Given the description of an element on the screen output the (x, y) to click on. 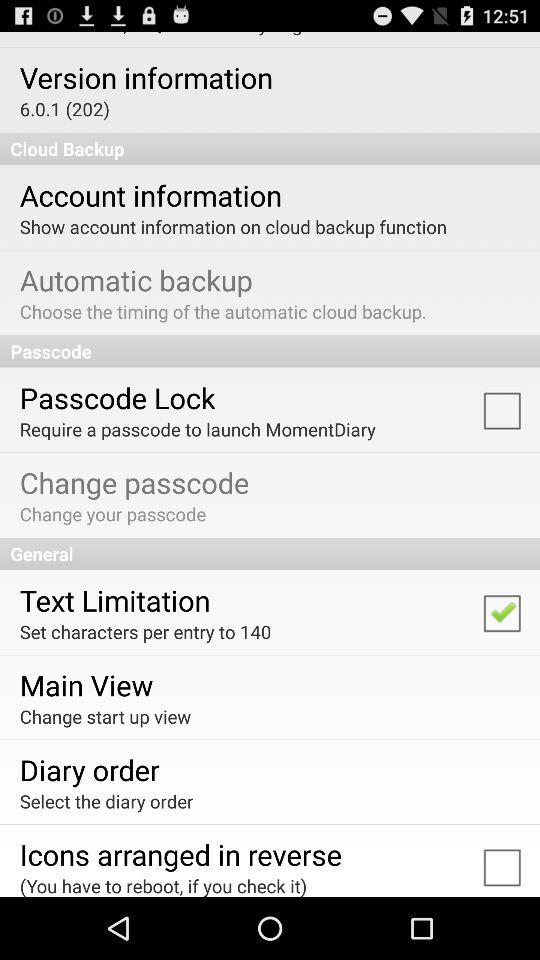
flip to the set characters per app (145, 631)
